Given the description of an element on the screen output the (x, y) to click on. 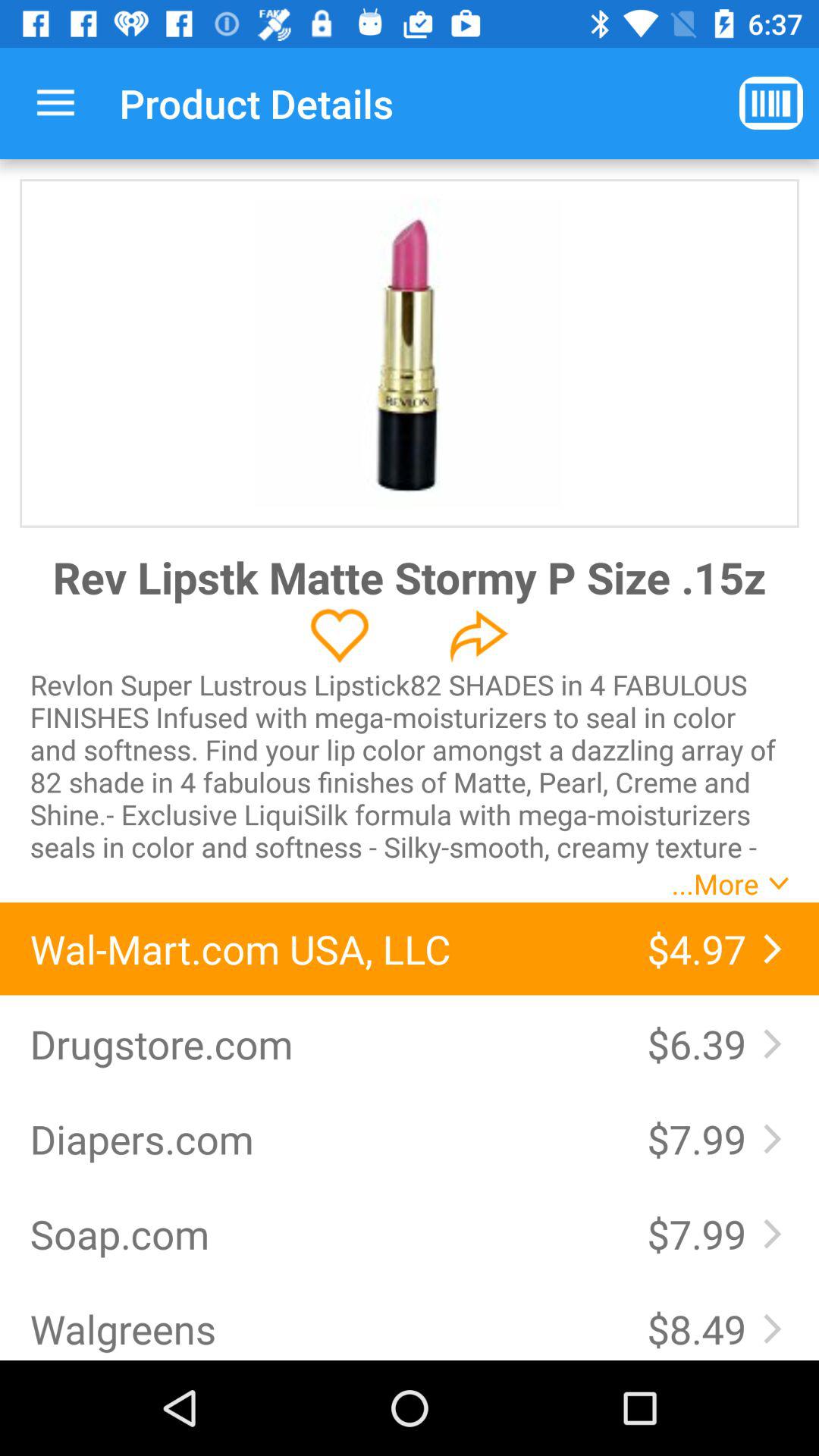
go forward (479, 636)
